Given the description of an element on the screen output the (x, y) to click on. 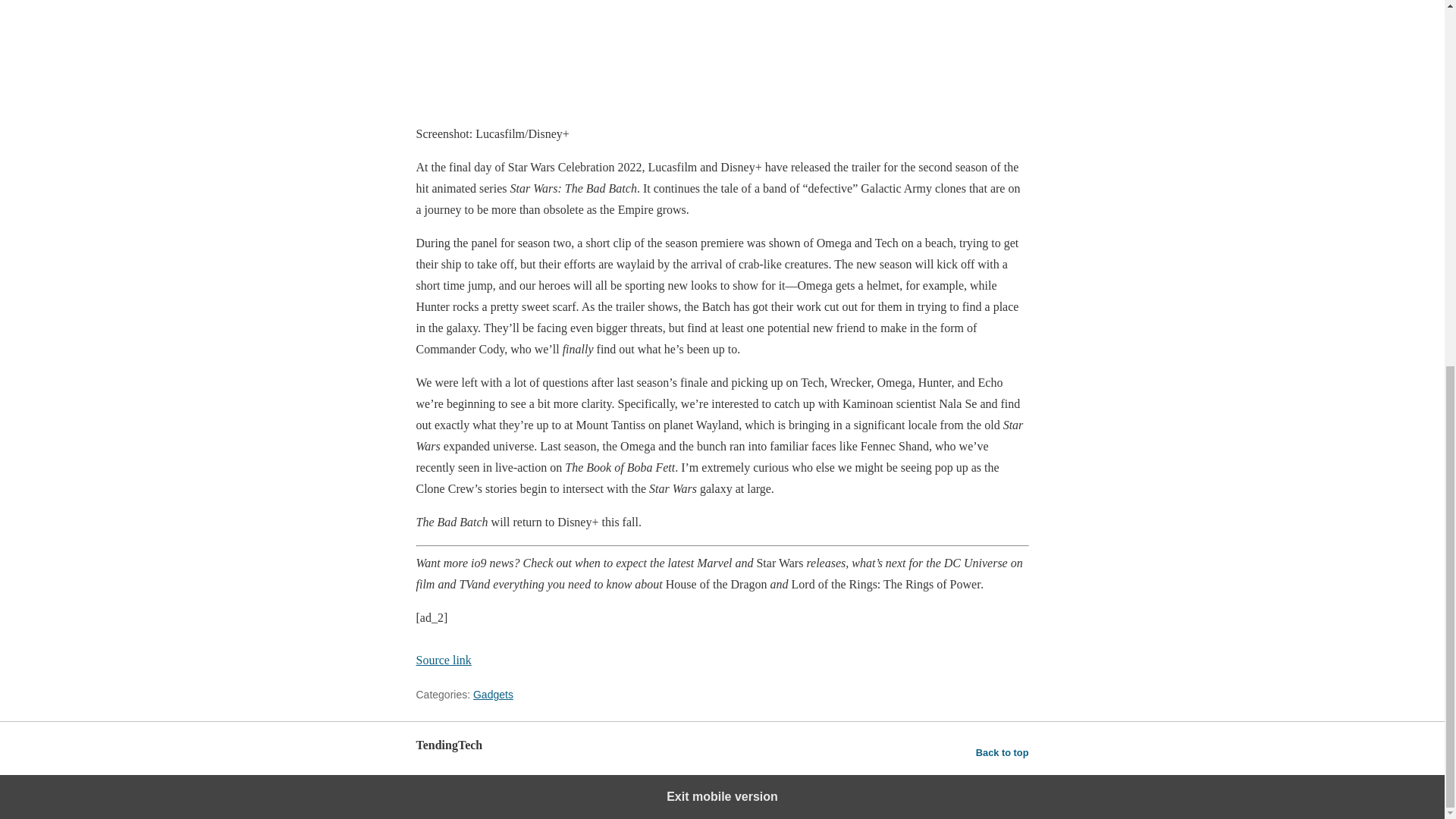
Gadgets (493, 694)
Source link (442, 659)
Back to top (1002, 752)
